Given the description of an element on the screen output the (x, y) to click on. 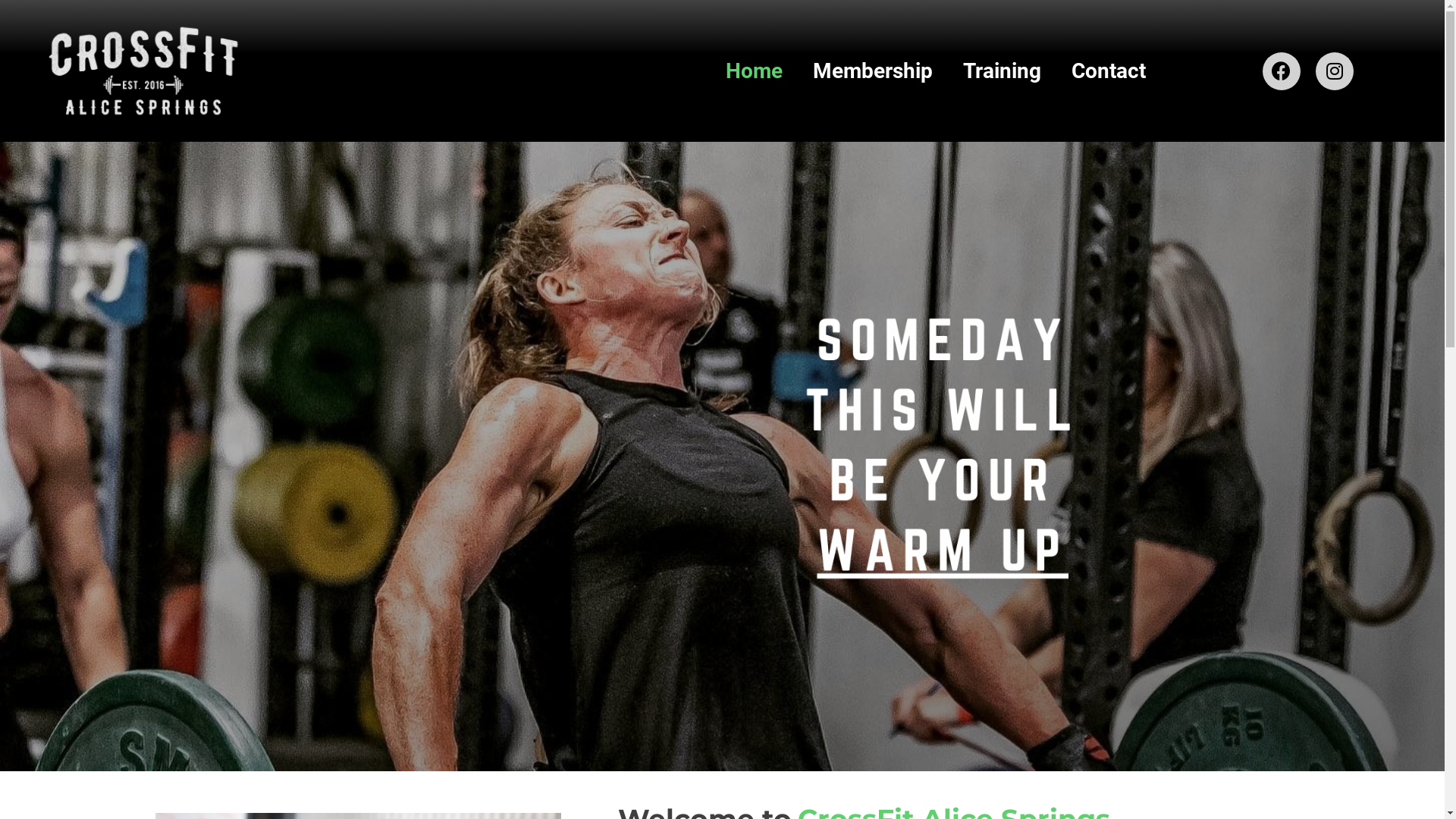
Membership Element type: text (872, 70)
Training Element type: text (1001, 70)
Contact Element type: text (1108, 70)
Home Element type: text (753, 70)
